Given the description of an element on the screen output the (x, y) to click on. 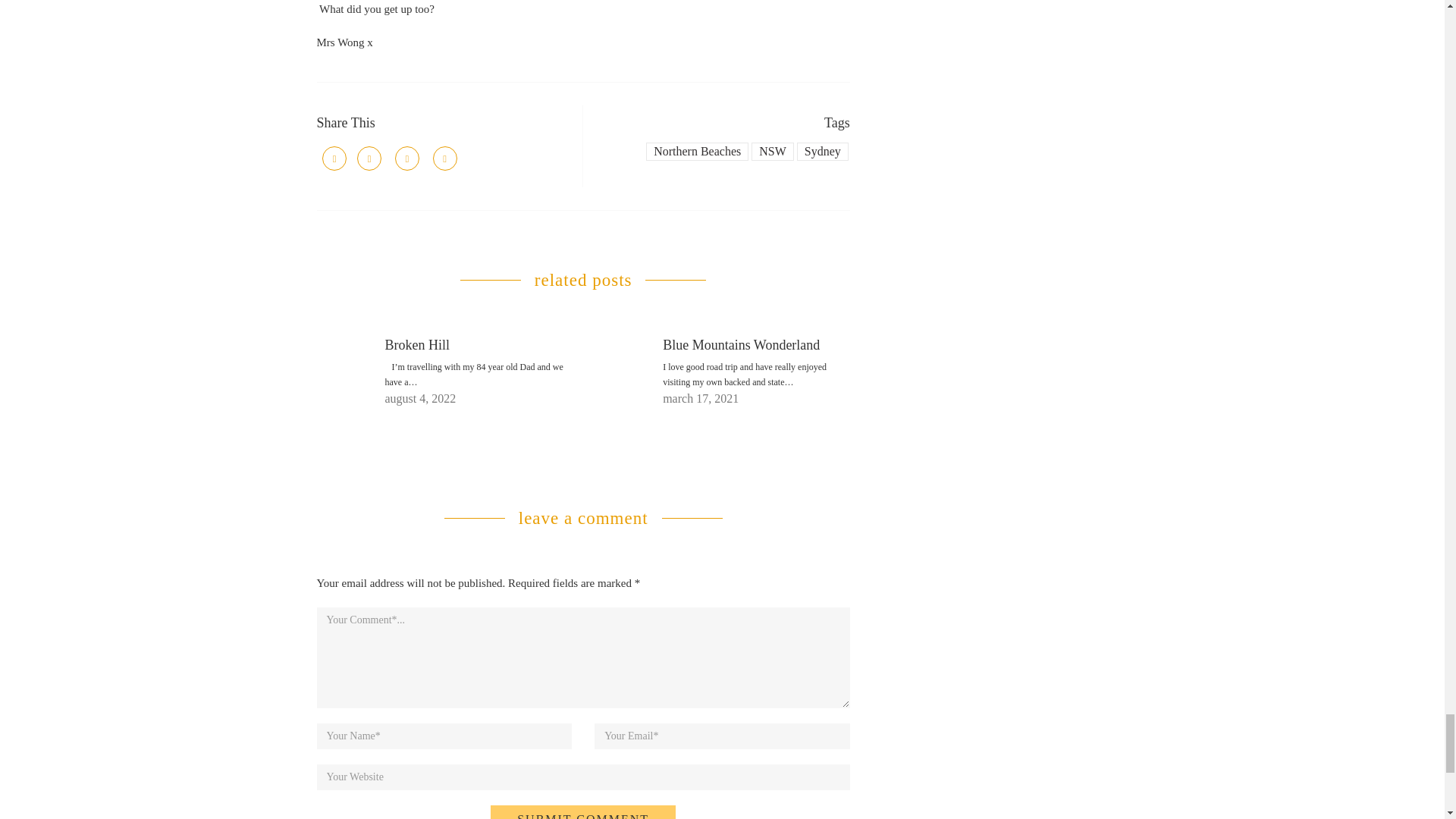
NSW (772, 151)
Blue Mountains Wonderland (740, 344)
Sydney (822, 151)
Submit Comment (582, 812)
Submit Comment (582, 812)
march 17, 2021 (700, 398)
august 4, 2022 (421, 398)
Northern Beaches (697, 151)
Broken Hill (417, 344)
